Given the description of an element on the screen output the (x, y) to click on. 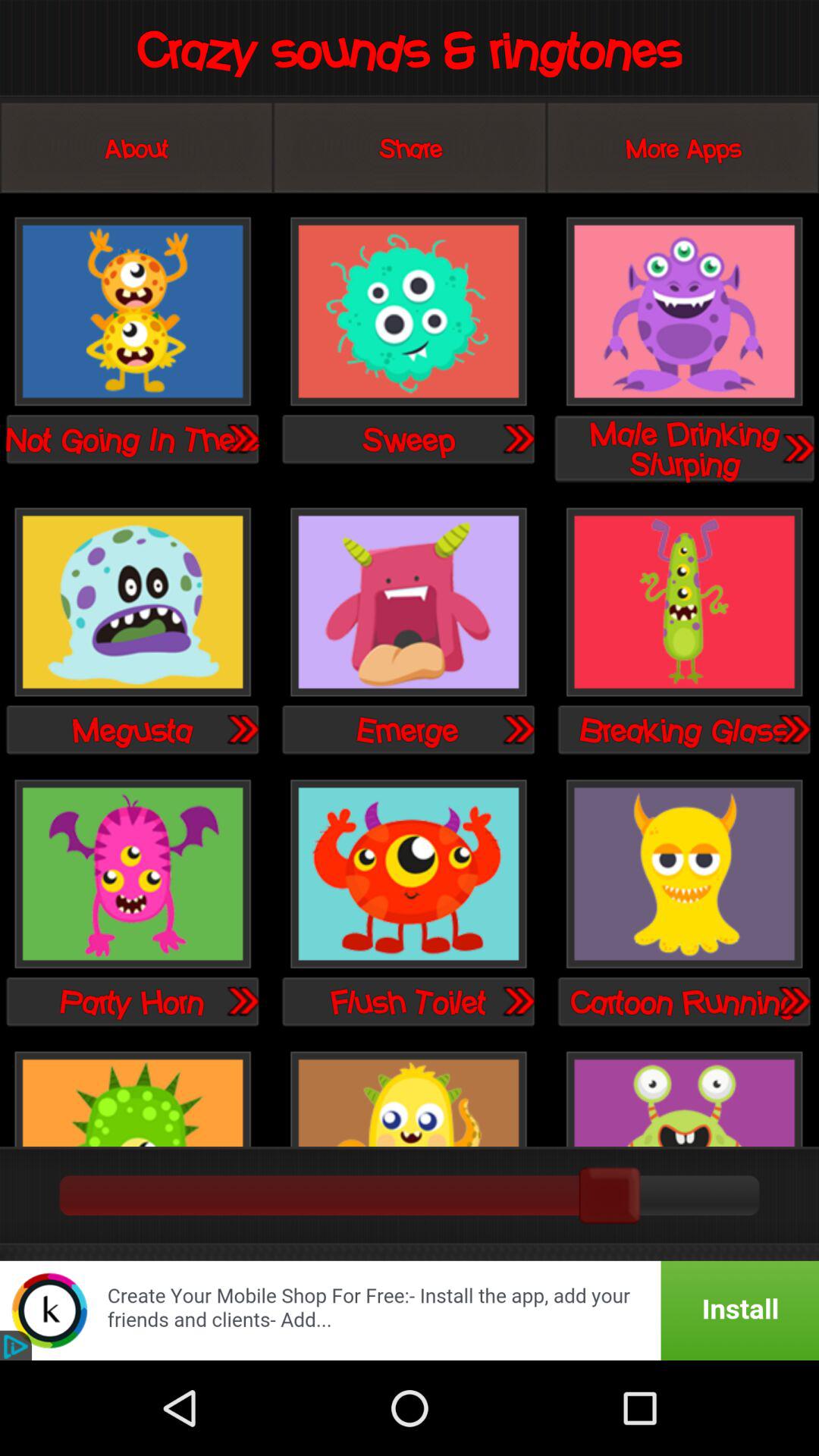
select the sweep sound (408, 312)
